Given the description of an element on the screen output the (x, y) to click on. 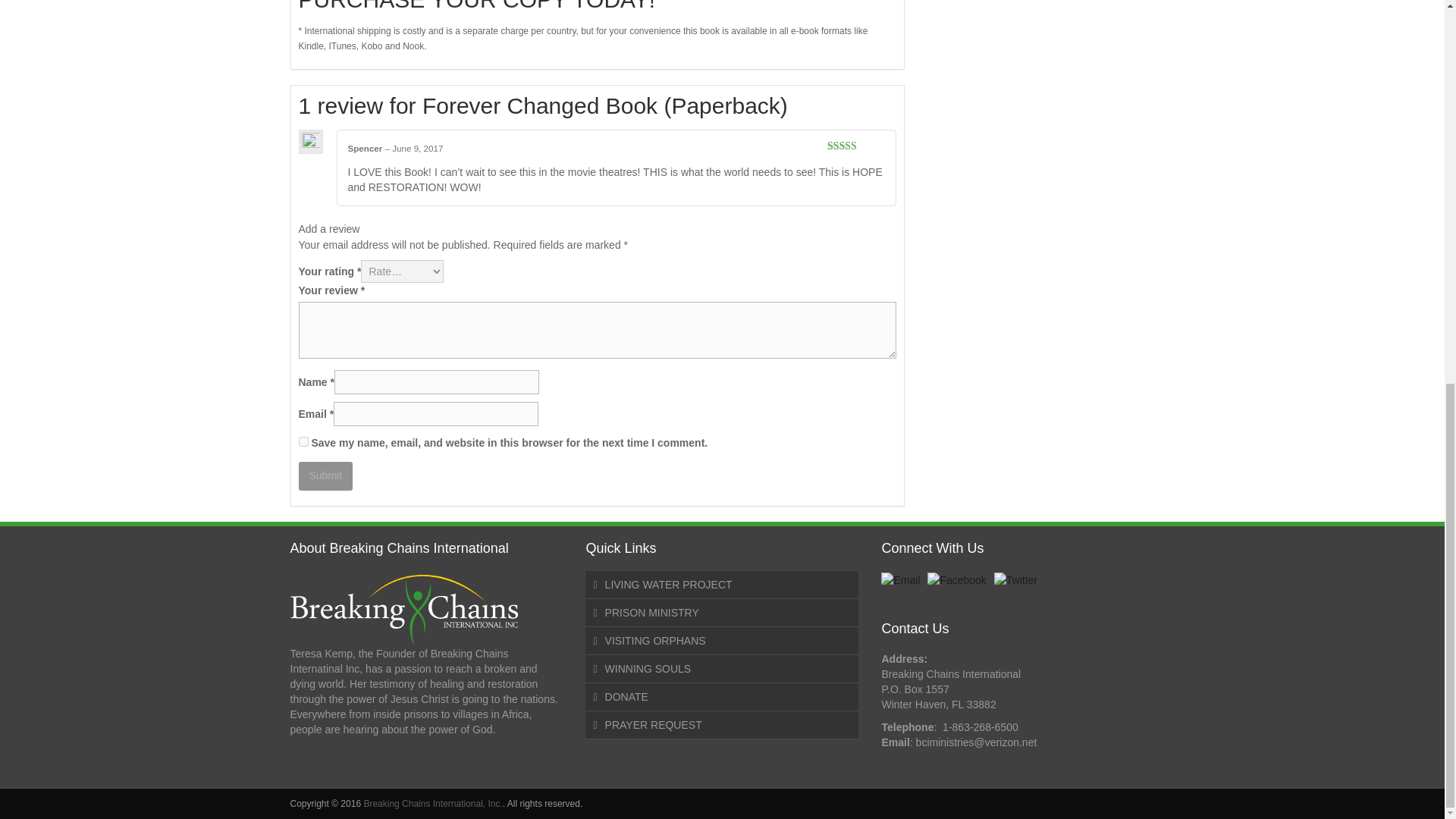
yes (303, 441)
Facebook (956, 580)
Twitter (1015, 580)
Email (900, 580)
Submit (325, 475)
